Given the description of an element on the screen output the (x, y) to click on. 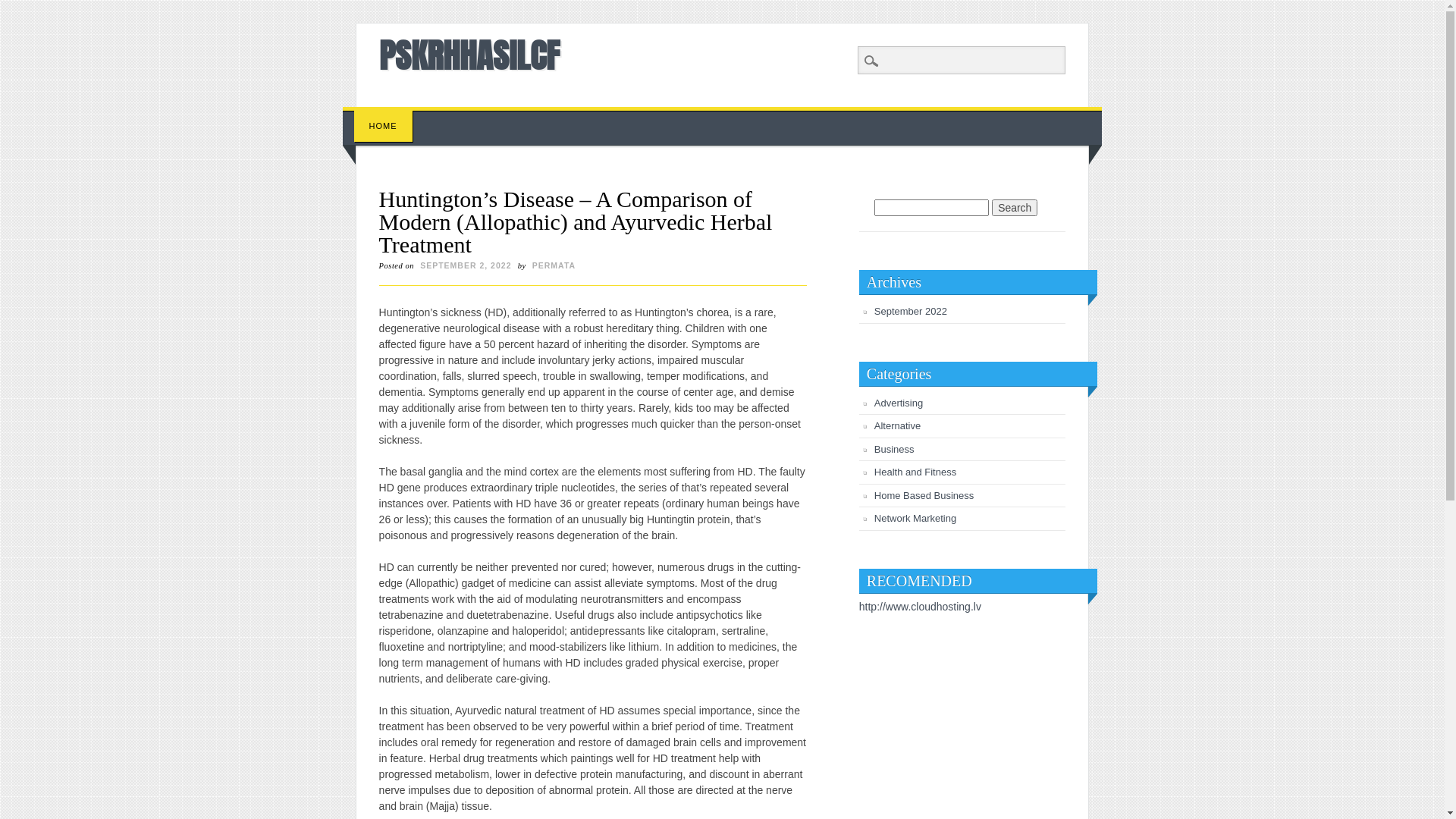
Business Element type: text (894, 449)
SEPTEMBER 2, 2022 Element type: text (465, 264)
Health and Fitness Element type: text (915, 471)
Search Element type: text (22, 8)
Search Element type: text (1014, 207)
HOME Element type: text (383, 125)
Advertising Element type: text (898, 402)
Home Based Business Element type: text (924, 495)
September 2022 Element type: text (910, 310)
http://www.cloudhosting.lv Element type: text (920, 606)
PERMATA Element type: text (553, 264)
PSKRHHASILCF Element type: text (469, 55)
Skip to content Element type: text (377, 114)
Network Marketing Element type: text (915, 518)
Alternative Element type: text (897, 425)
